Given the description of an element on the screen output the (x, y) to click on. 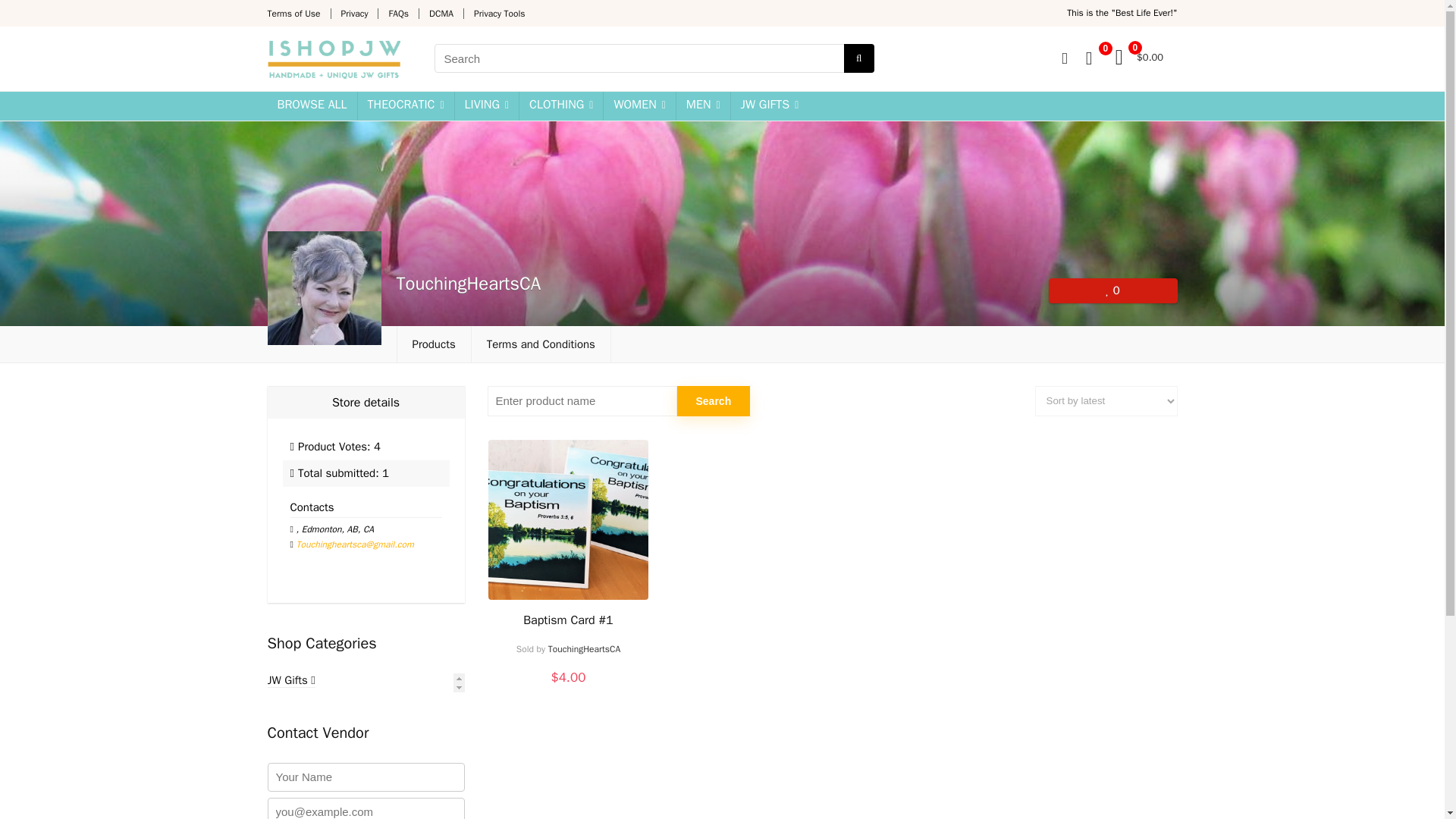
THEOCRATIC (406, 105)
Search (713, 400)
BROWSE ALL (311, 105)
Terms of Use (293, 13)
Privacy Tools (499, 13)
FAQs (398, 13)
Search (713, 400)
MEN (703, 105)
Privacy (354, 13)
DCMA (440, 13)
CLOTHING (560, 105)
WOMEN (639, 105)
LIVING (486, 105)
0 (1089, 57)
